Given the description of an element on the screen output the (x, y) to click on. 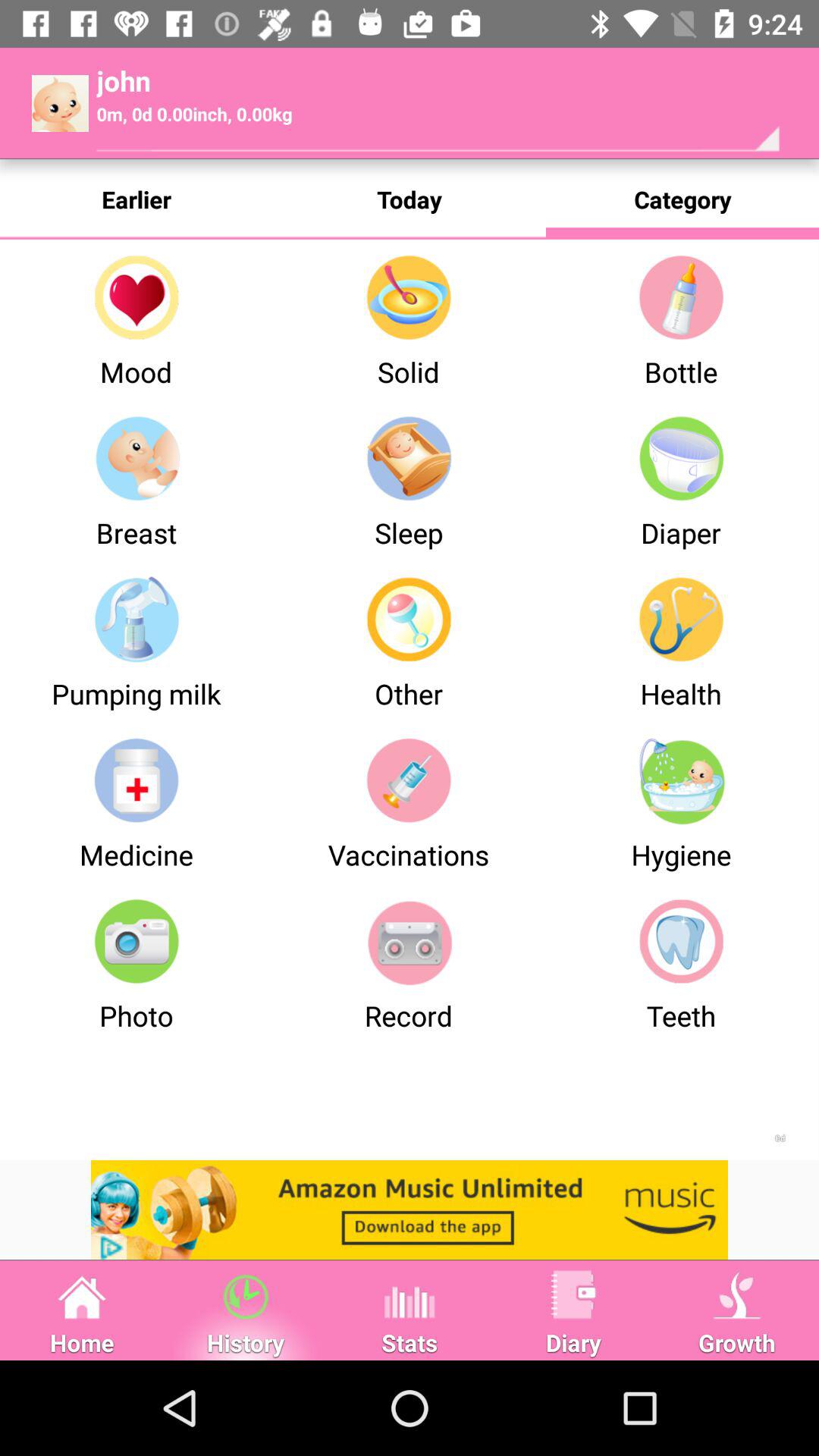
launch advertisement link (409, 1209)
